Given the description of an element on the screen output the (x, y) to click on. 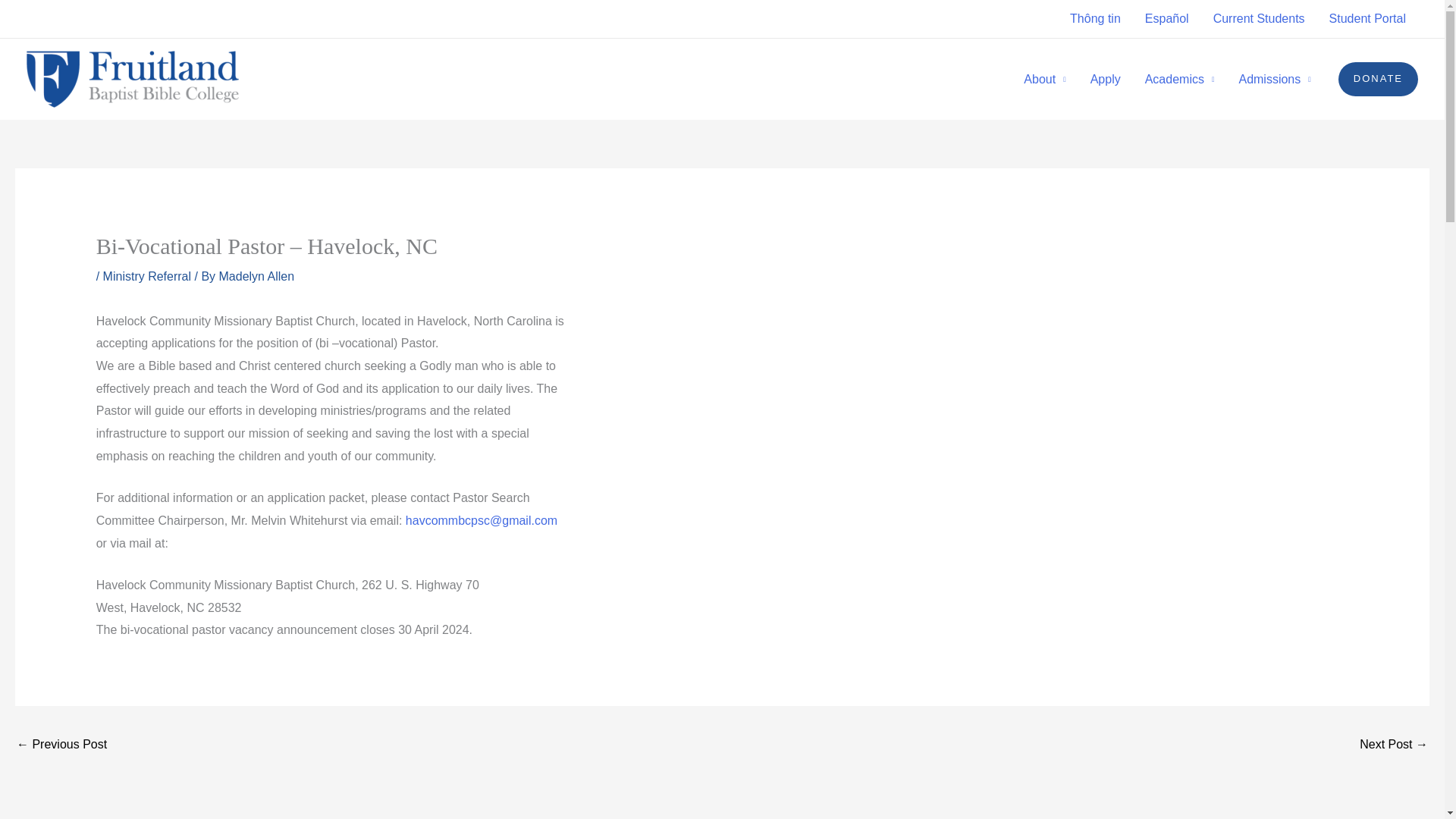
Current Students (1259, 18)
View all posts by Madelyn Allen (257, 276)
Apply (1105, 79)
Academics (1179, 79)
Bi-Vocational Minister - Newberry, SC (61, 746)
Full and Part-Time Teachers - Flat Rock, NC (1393, 746)
About (1044, 79)
Student Portal (1367, 18)
Admissions (1273, 79)
DONATE (1378, 78)
